Given the description of an element on the screen output the (x, y) to click on. 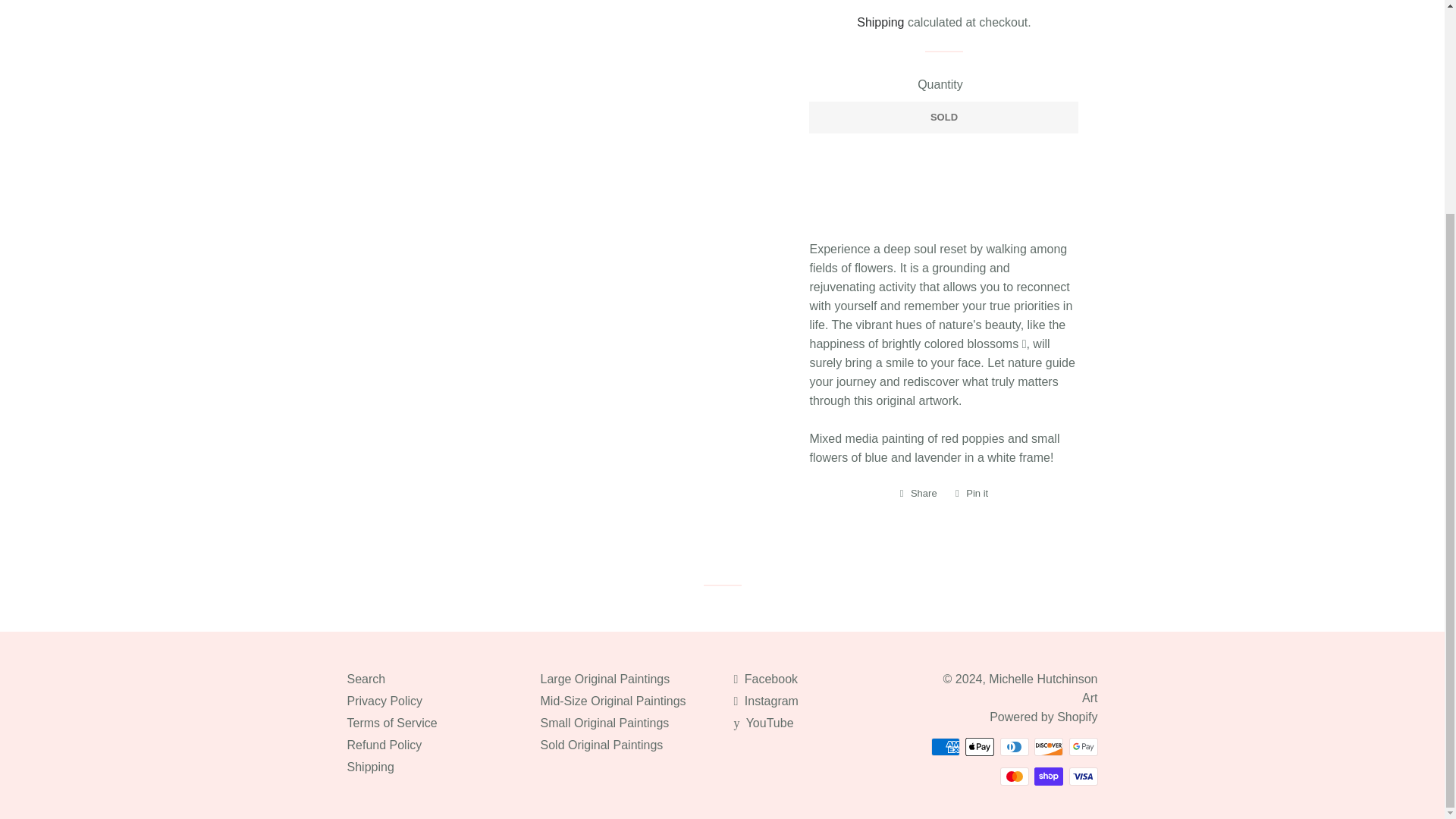
Mastercard (1012, 776)
Pin on Pinterest (971, 493)
Diners Club (1012, 746)
Michelle Hutchinson Art on Instagram (765, 700)
Apple Pay (979, 746)
Share on Facebook (918, 493)
Visa (1082, 776)
Shop Pay (1047, 776)
American Express (945, 746)
Google Pay (1082, 746)
